Given the description of an element on the screen output the (x, y) to click on. 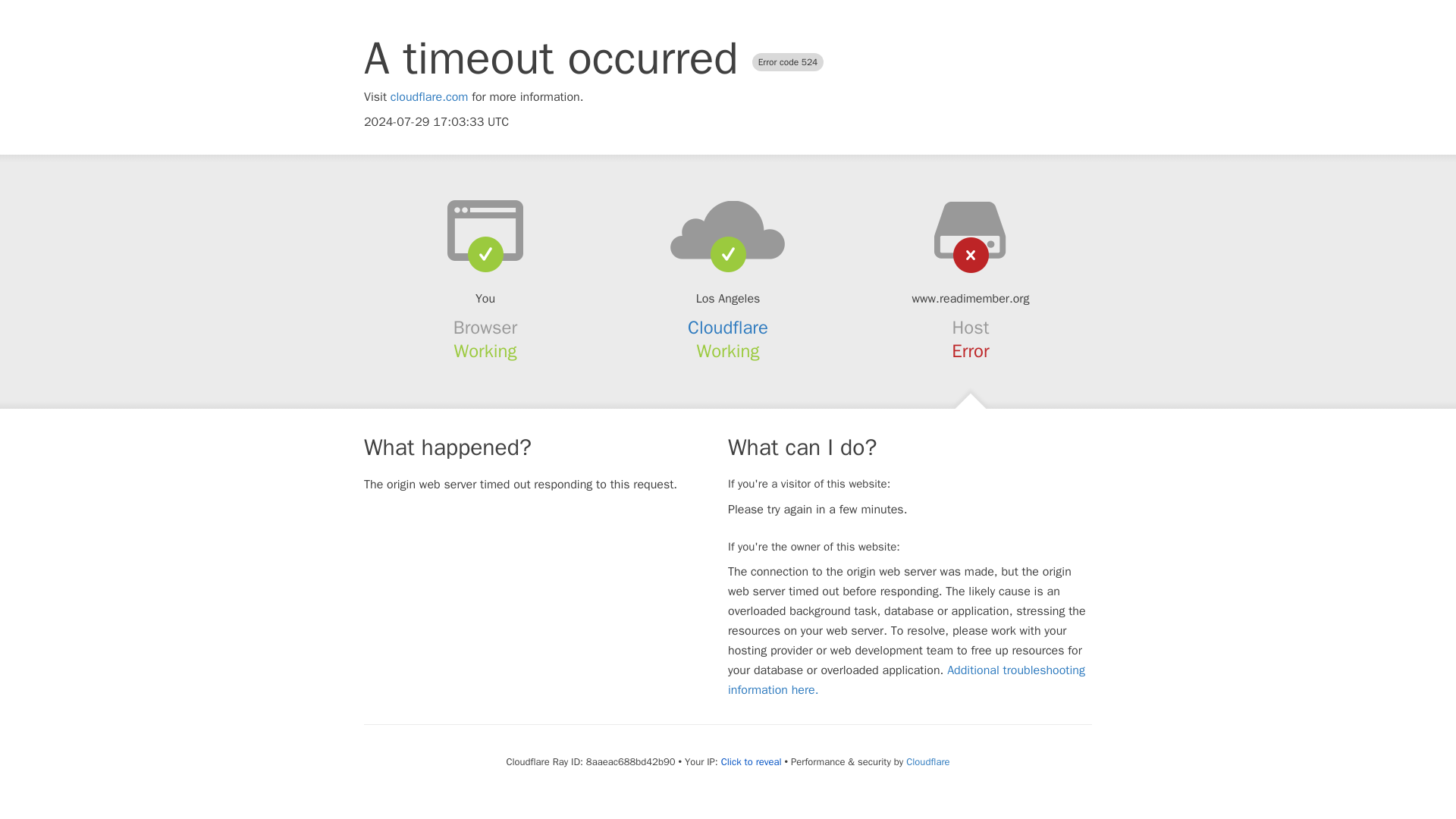
cloudflare.com (429, 96)
Cloudflare (727, 327)
Cloudflare (927, 761)
Additional troubleshooting information here. (906, 679)
Click to reveal (750, 762)
